Given the description of an element on the screen output the (x, y) to click on. 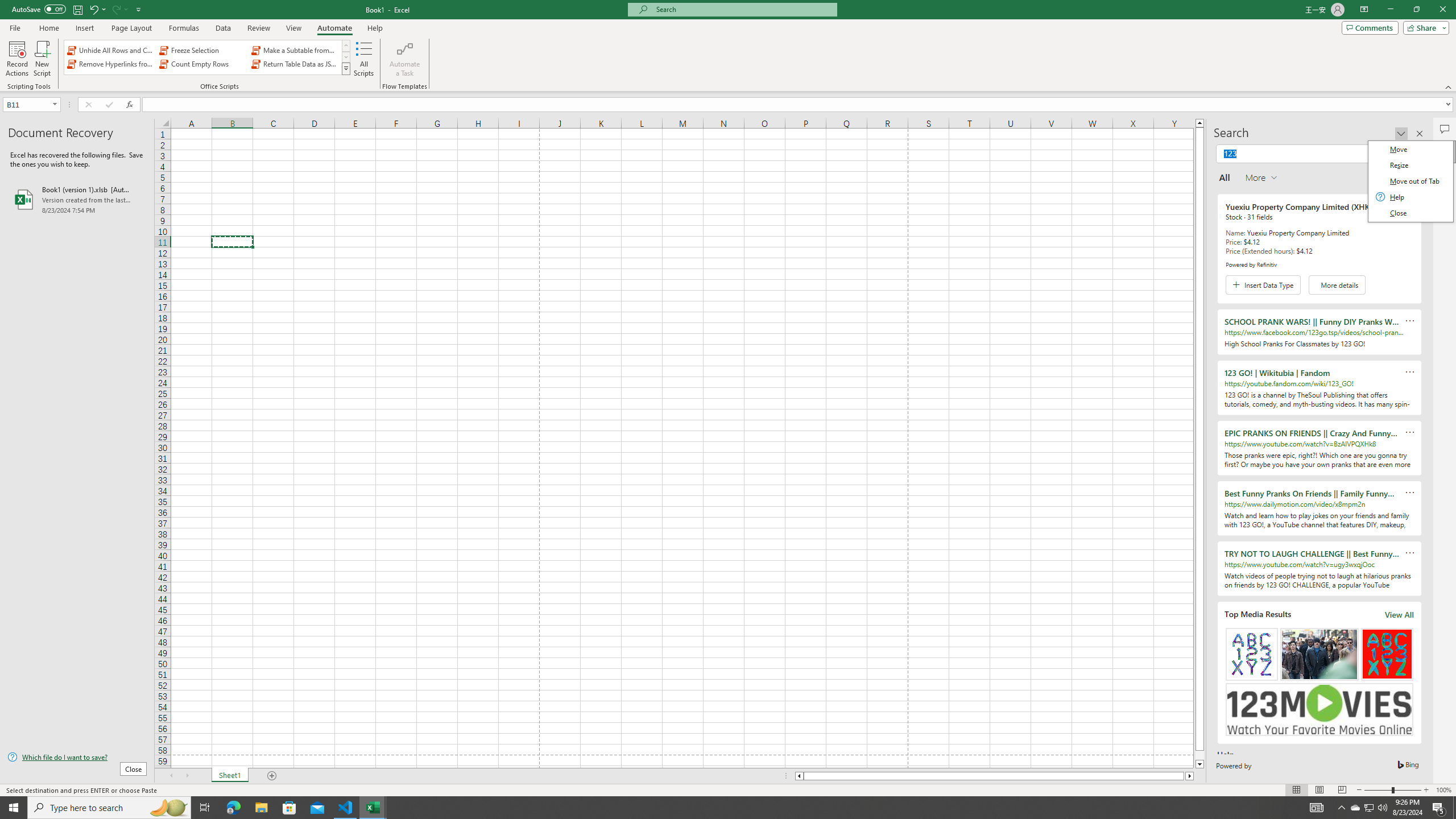
Excel - 2 running windows (373, 807)
